Given the description of an element on the screen output the (x, y) to click on. 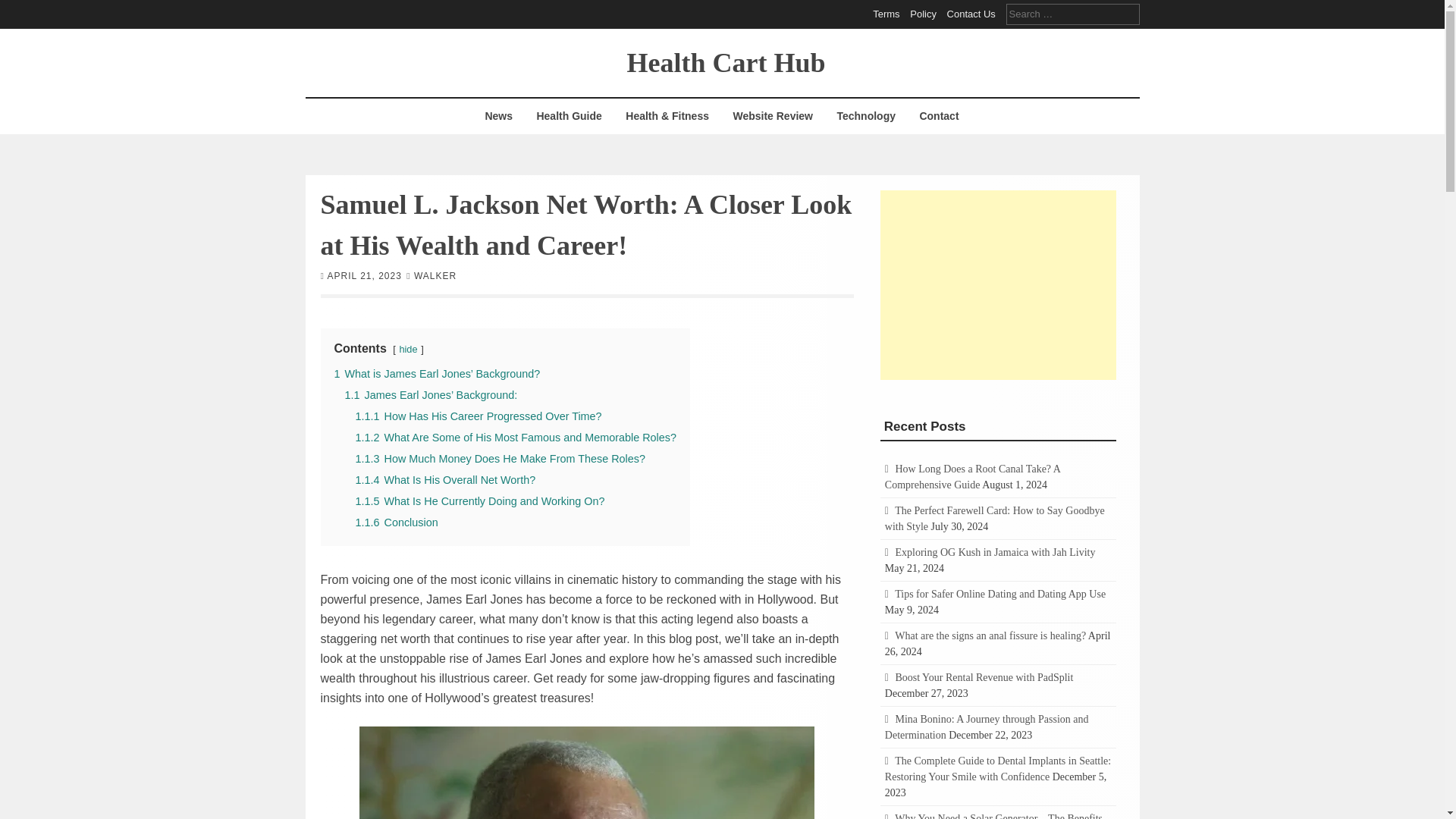
Website Review (772, 116)
APRIL 21, 2023 (364, 275)
Contact Us (971, 13)
Advertisement (998, 284)
Search (23, 9)
How Long Does a Root Canal Take? A Comprehensive Guide (972, 476)
1.1.5 What Is He Currently Doing and Working On? (479, 500)
1.1.2 What Are Some of His Most Famous and Memorable Roles? (516, 436)
Policy (923, 13)
hide (407, 348)
Tips for Safer Online Dating and Dating App Use (1000, 593)
Health Guide (568, 116)
Mina Bonino: A Journey through Passion and Determination (987, 727)
News (498, 116)
1.1.6 Conclusion (396, 521)
